Given the description of an element on the screen output the (x, y) to click on. 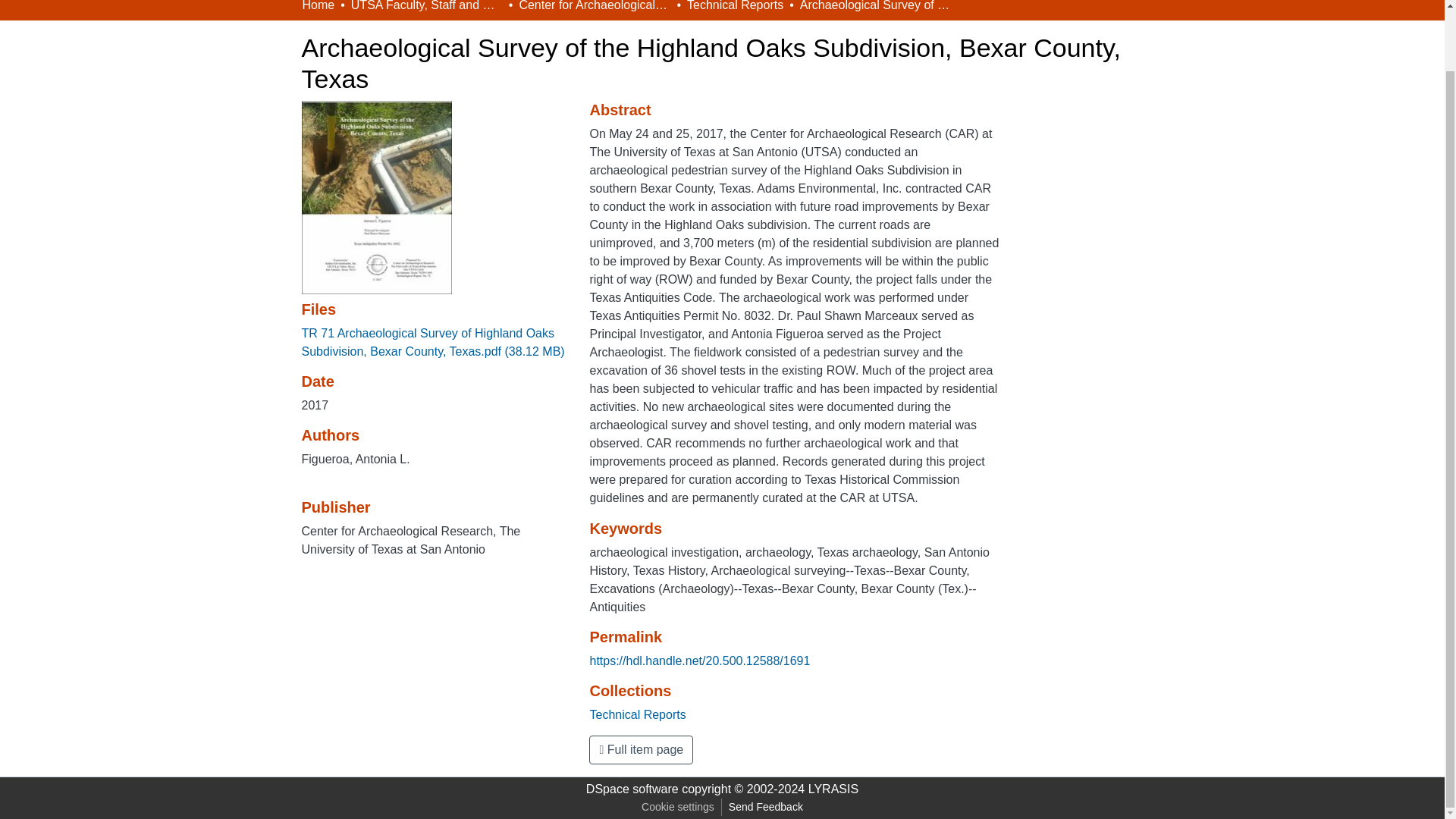
Cookie settings (677, 806)
Technical Reports (735, 7)
UTSA Faculty, Staff and Postdoctoral Researcher Work (426, 7)
LYRASIS (833, 788)
Center for Archaeological Research (593, 7)
Full item page (641, 749)
Send Feedback (765, 806)
Home (317, 7)
Technical Reports (637, 714)
DSpace software (632, 788)
